Given the description of an element on the screen output the (x, y) to click on. 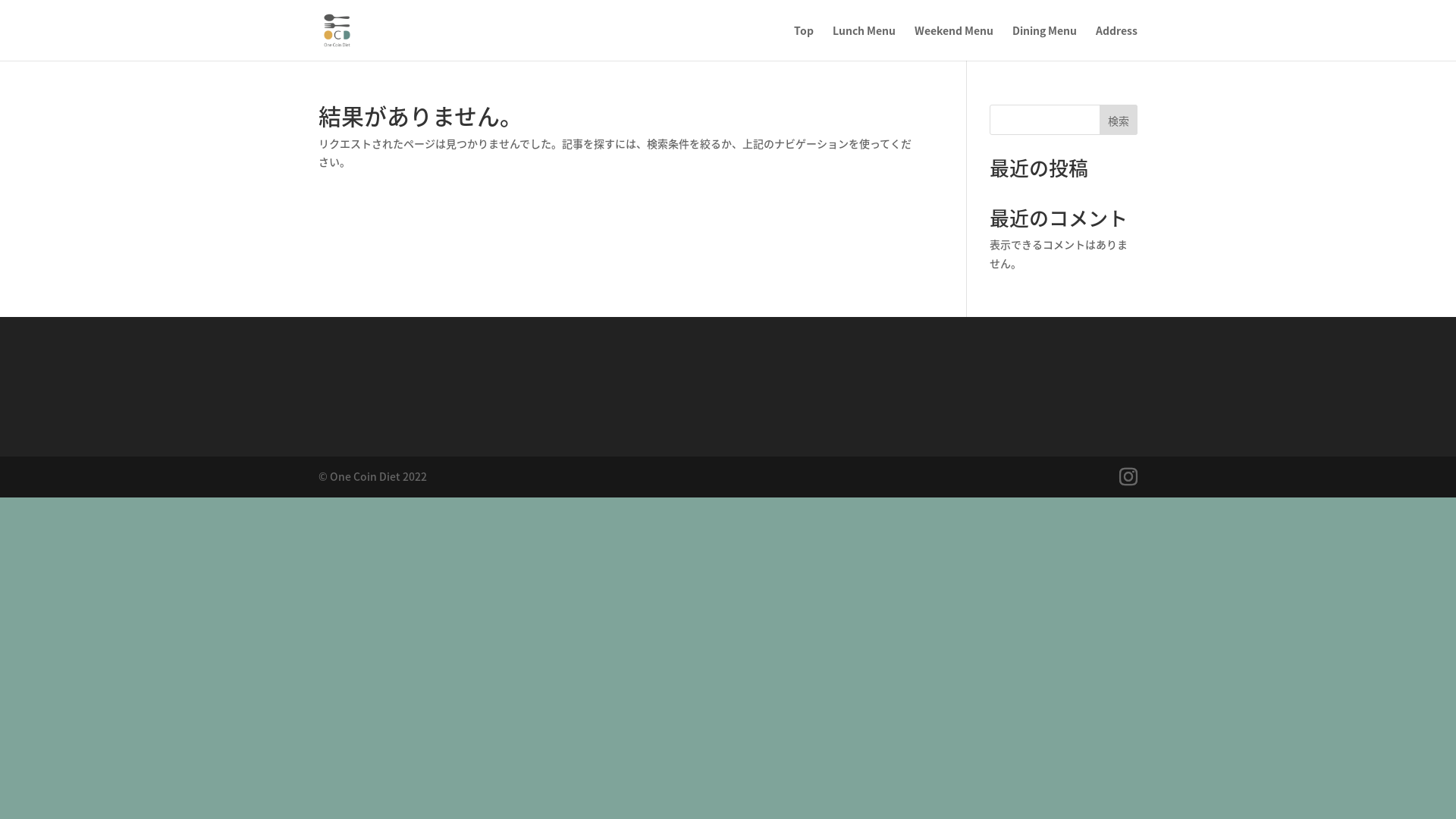
Lunch Menu Element type: text (863, 42)
Weekend Menu Element type: text (953, 42)
Dining Menu Element type: text (1044, 42)
Address Element type: text (1116, 42)
Top Element type: text (803, 42)
